Given the description of an element on the screen output the (x, y) to click on. 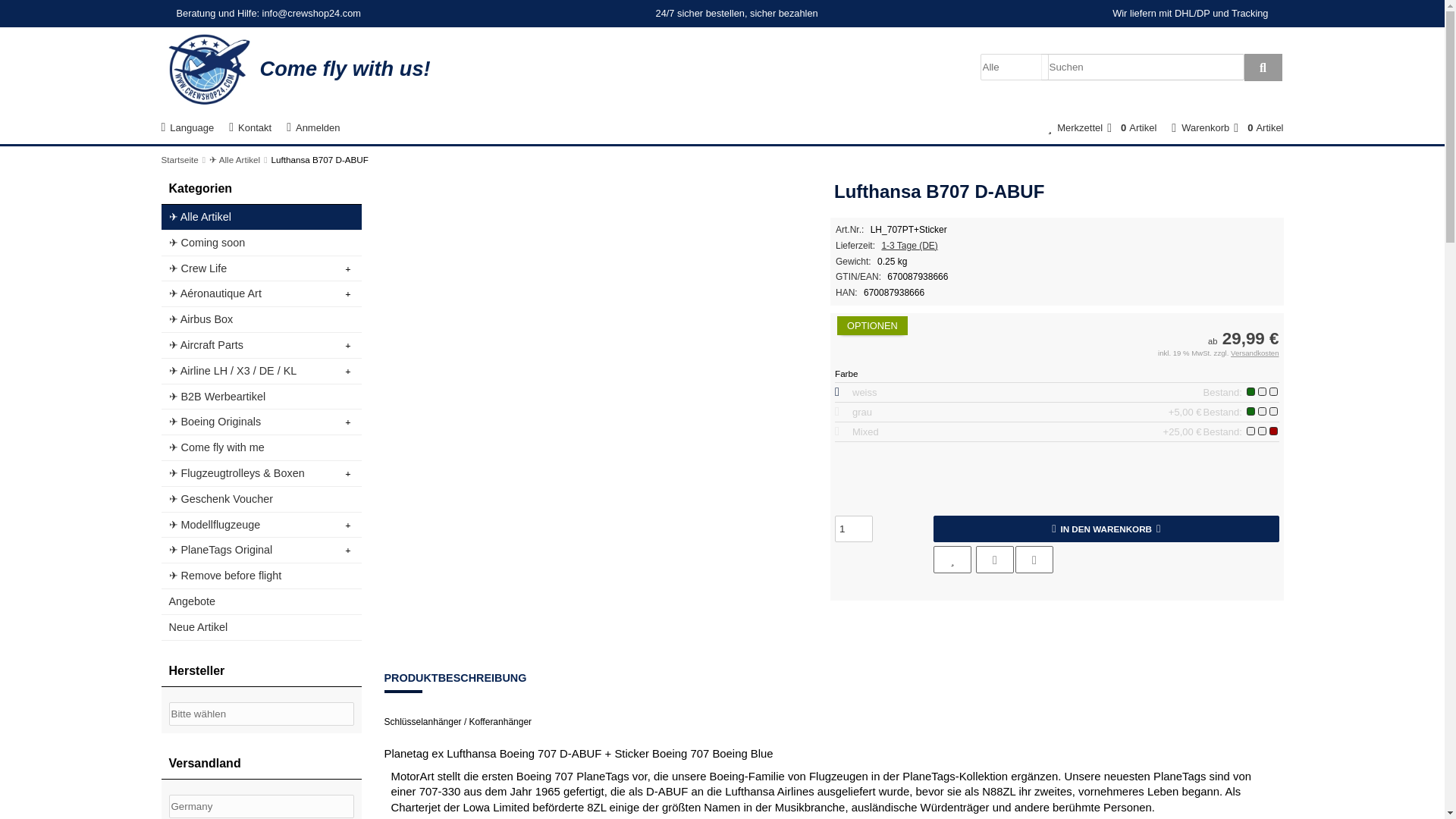
Language (186, 127)
Startseite (179, 159)
Kontakt (250, 127)
Language (186, 127)
Versandkosten (1254, 352)
1 (853, 528)
Kontakt (250, 127)
Anmelden (313, 127)
Anmelden (313, 127)
